Given the description of an element on the screen output the (x, y) to click on. 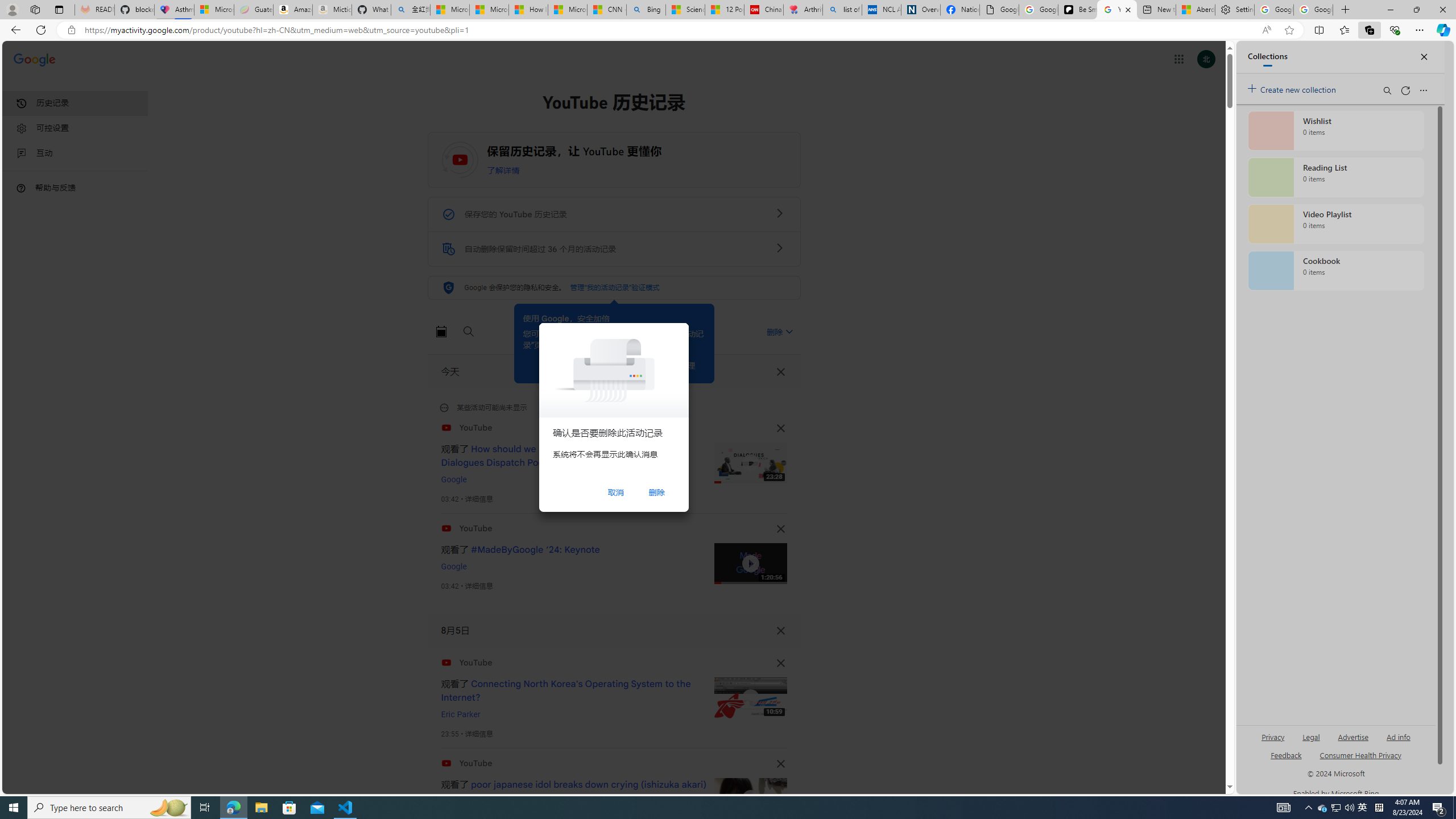
AutomationID: sb_feedback (1286, 754)
